Given the description of an element on the screen output the (x, y) to click on. 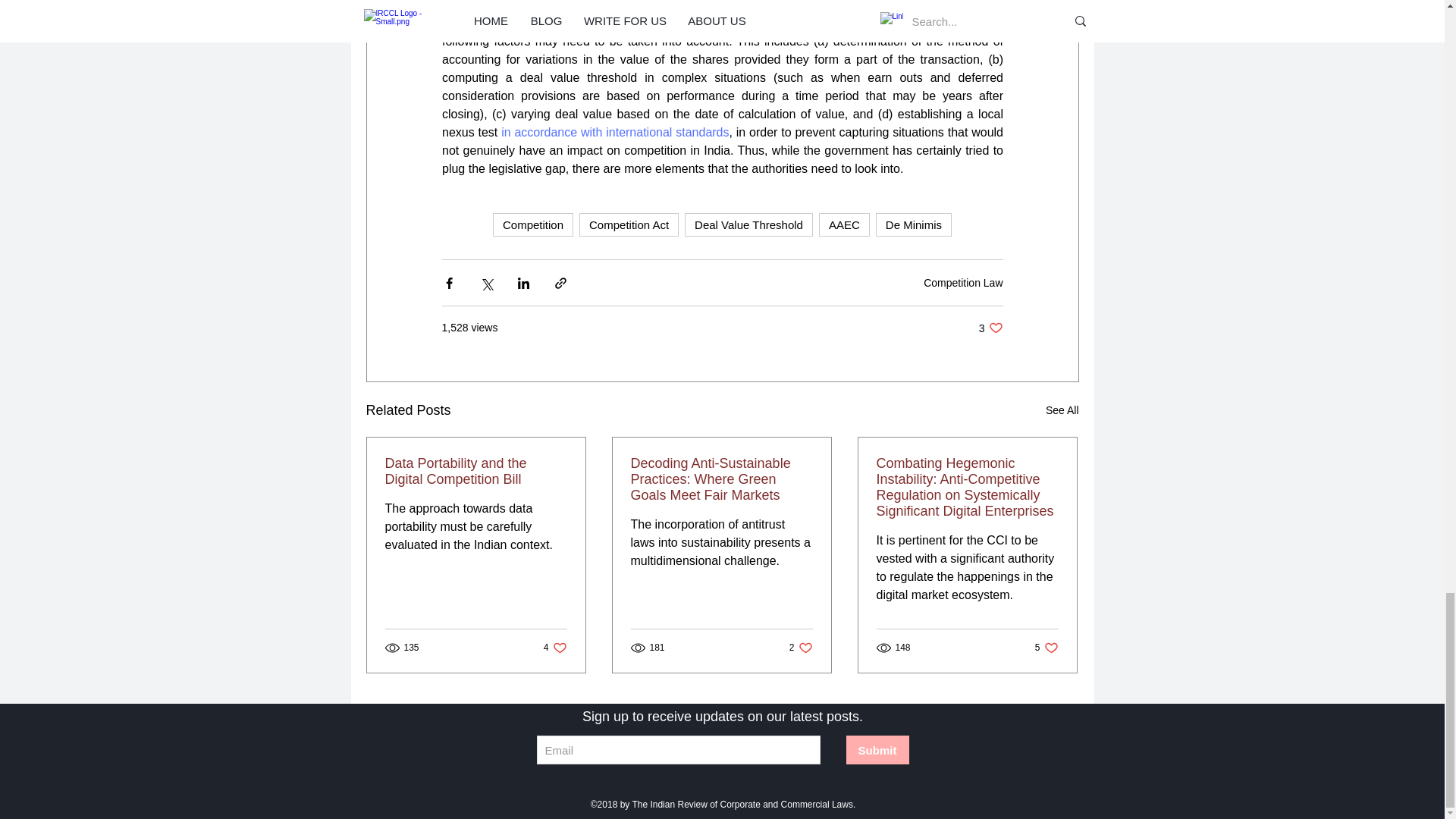
Competition (533, 224)
Deal Value Threshold (748, 224)
in accordance with international standards (614, 132)
Competition Act (628, 224)
